Given the description of an element on the screen output the (x, y) to click on. 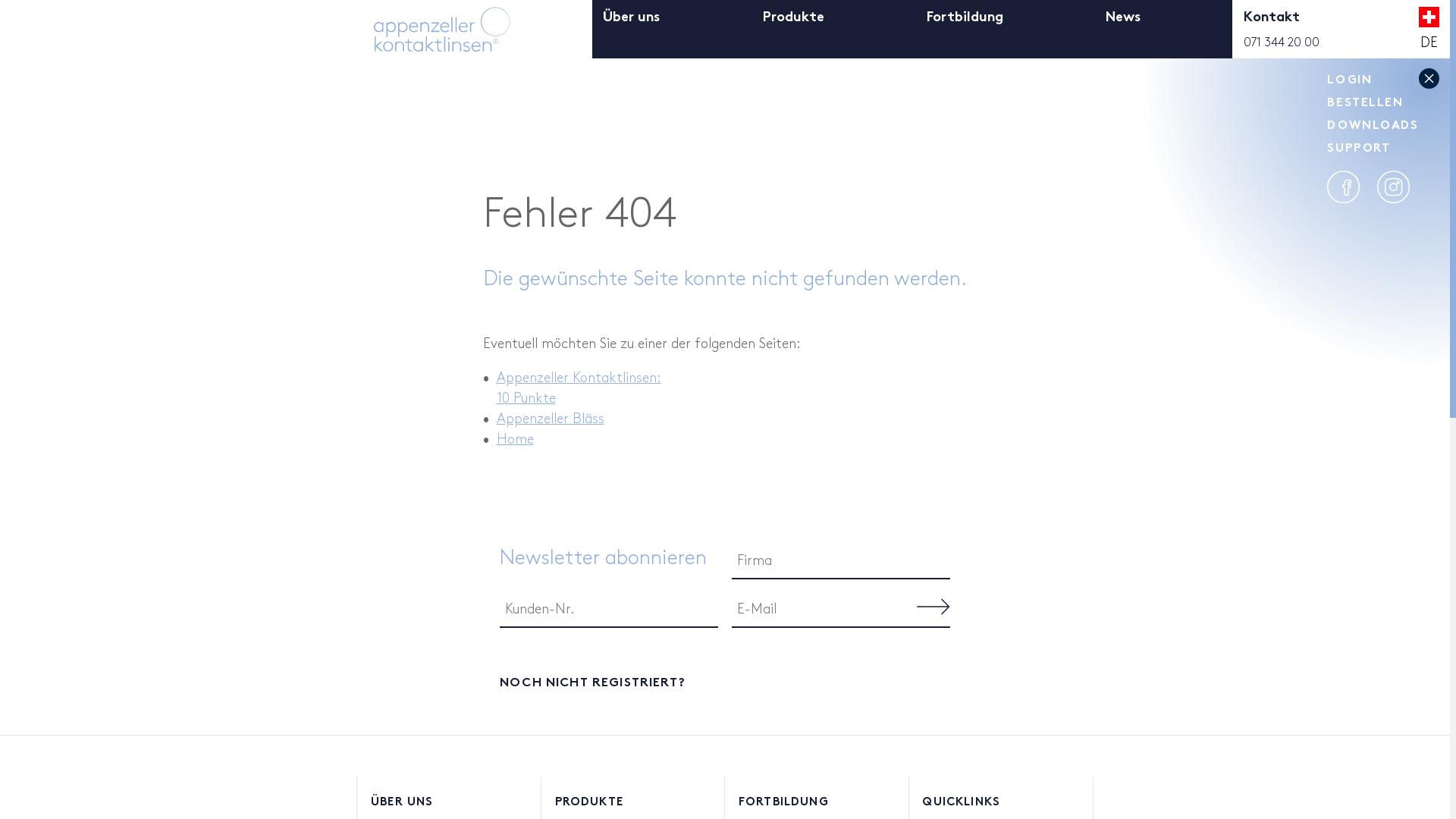
QUICKLINKS Element type: text (1000, 801)
Home Element type: text (514, 438)
BESTELLEN Element type: text (1364, 101)
SUPPORT Element type: text (1358, 147)
Appenzeller Kontaktlinsen:
10 Punkte Element type: text (578, 387)
PRODUKTE Element type: text (633, 801)
LOGIN Element type: text (1349, 79)
Fortbildung Element type: text (964, 26)
FORTBILDUNG Element type: text (816, 801)
Kontakt Element type: text (1271, 26)
NOCH NICHT REGISTRIERT? Element type: text (724, 680)
DOWNLOADS Element type: text (1372, 124)
Produkte Element type: text (793, 26)
071 344 20 00 Element type: text (1281, 41)
News Element type: text (1122, 26)
